Given the description of an element on the screen output the (x, y) to click on. 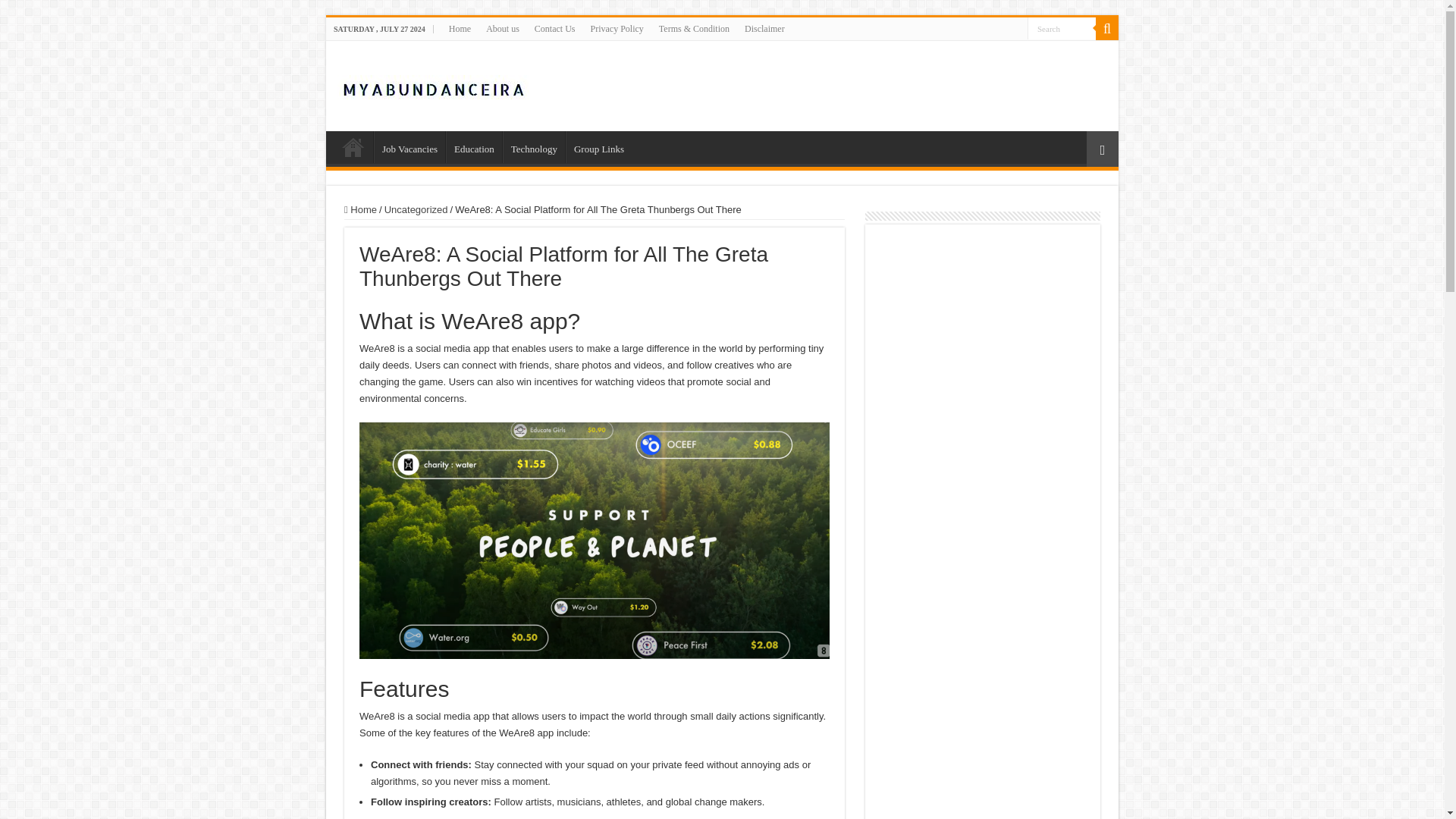
Job Vacancies (409, 146)
Search (1061, 28)
Search (1107, 28)
Group Links (598, 146)
Uncategorized (416, 209)
Privacy Policy (616, 28)
Search (1061, 28)
Technology (533, 146)
Advertisement (982, 769)
Home (460, 28)
Home (360, 209)
Education (473, 146)
About us (503, 28)
Disclaimer (764, 28)
